Given the description of an element on the screen output the (x, y) to click on. 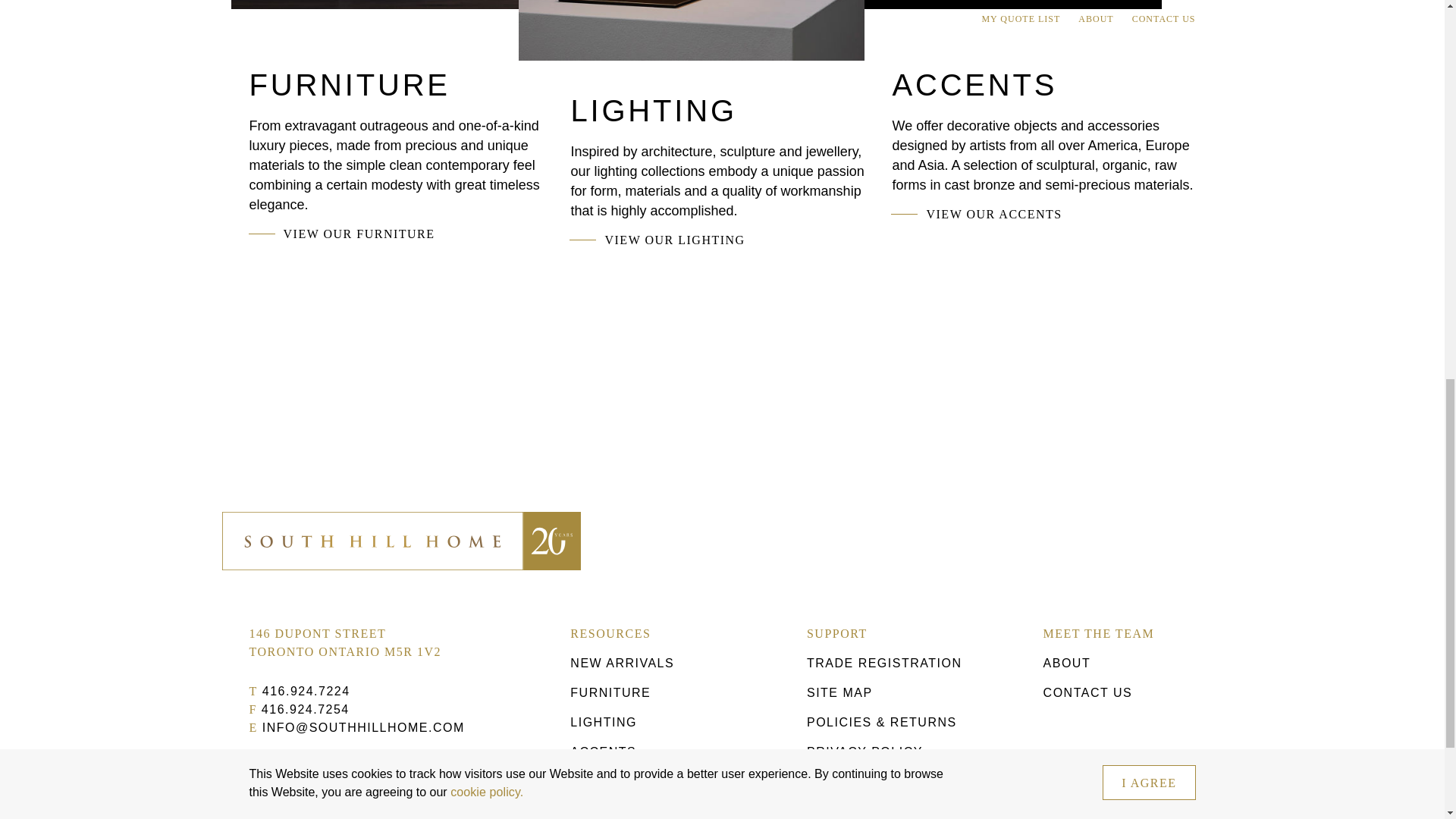
Venicem Desk Lamp Vcm Massimo Tonetto Lighting 2 image (691, 30)
Powell Bonnell Console Table Cabaret 9416 Furniture 2 image (394, 4)
